Given the description of an element on the screen output the (x, y) to click on. 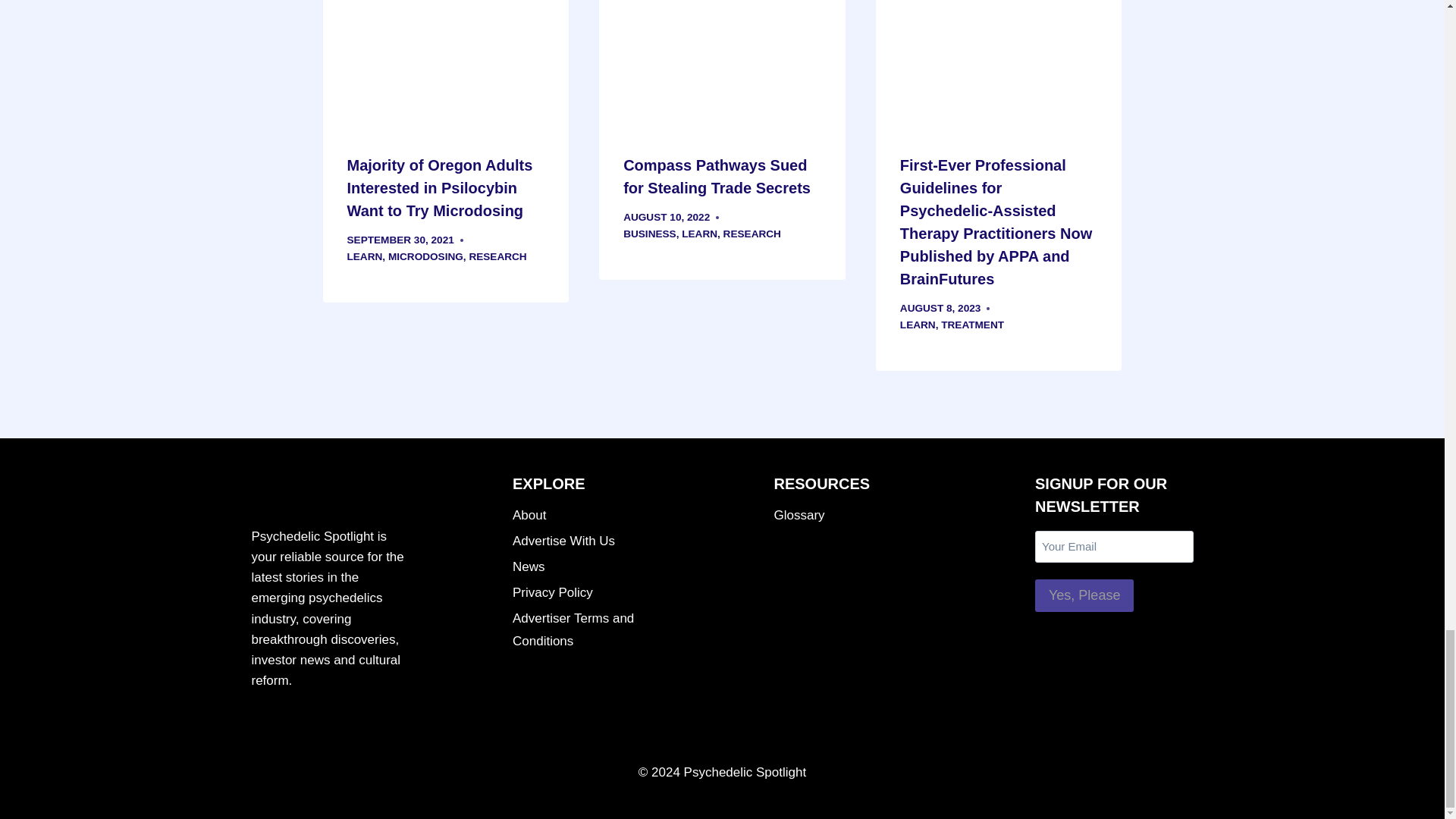
Yes, Please (1084, 595)
